Given the description of an element on the screen output the (x, y) to click on. 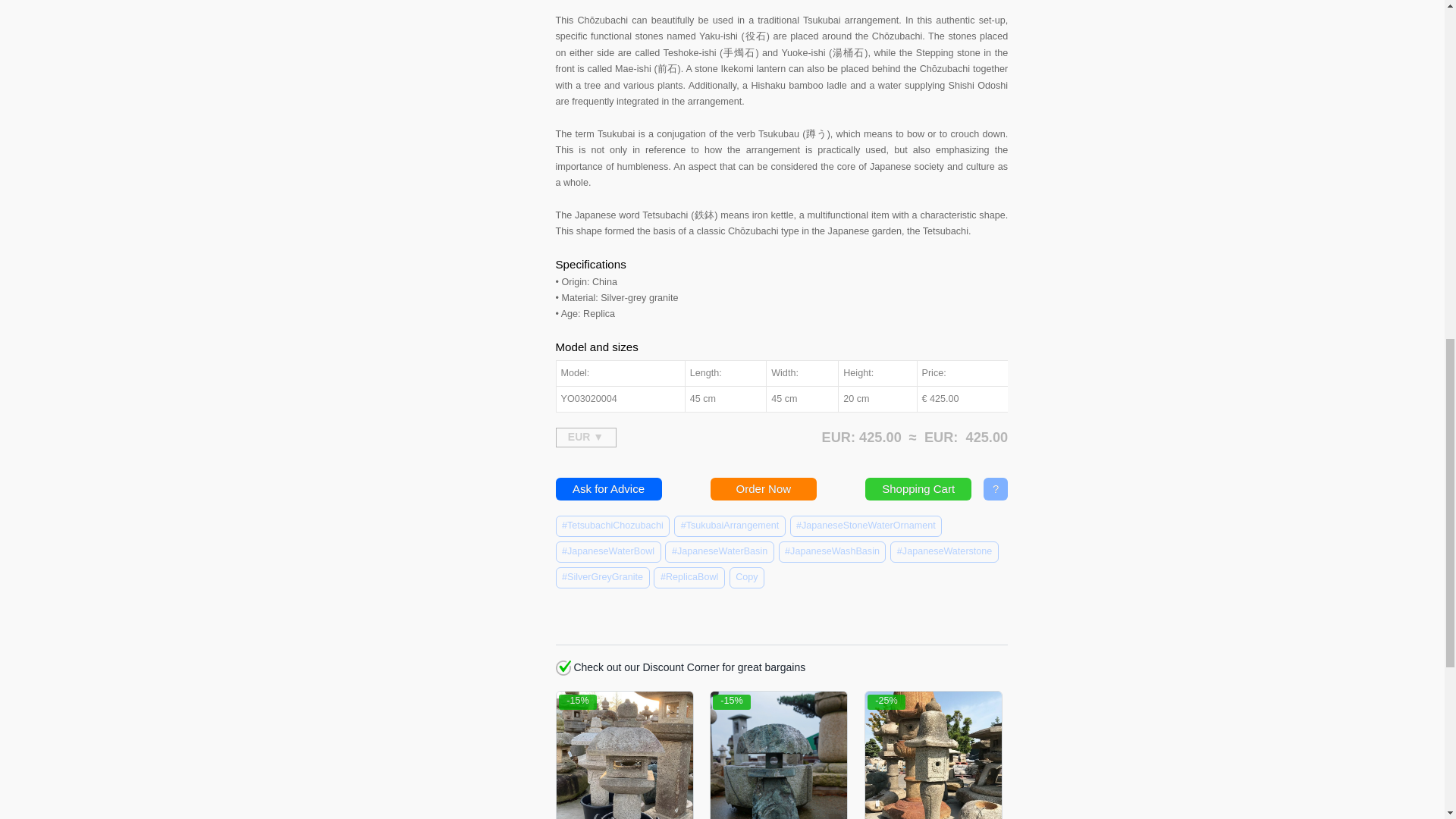
Saimyo-ji Ishidoro, Japanese Stone Lantern - YO01010067 (932, 755)
Oribe Gata Ishidoro, Japanese Stone Lantern - YO01010137 (624, 755)
Check out our Discount Corner for great bargains (562, 667)
Shikoku Yamadoro, Japanese Stone Lantern - YO01010297 (778, 755)
